Given the description of an element on the screen output the (x, y) to click on. 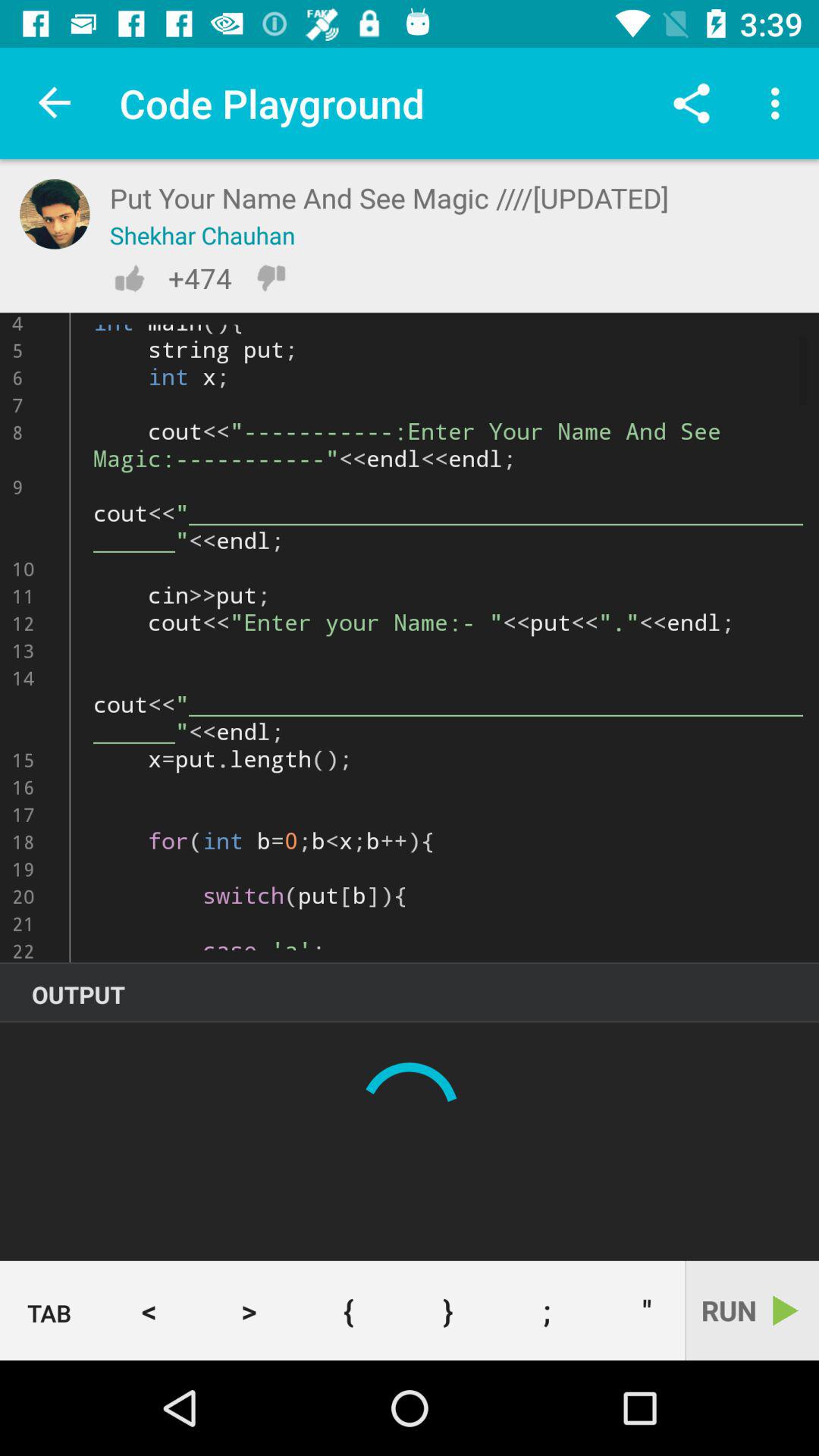
dislike button (270, 277)
